Given the description of an element on the screen output the (x, y) to click on. 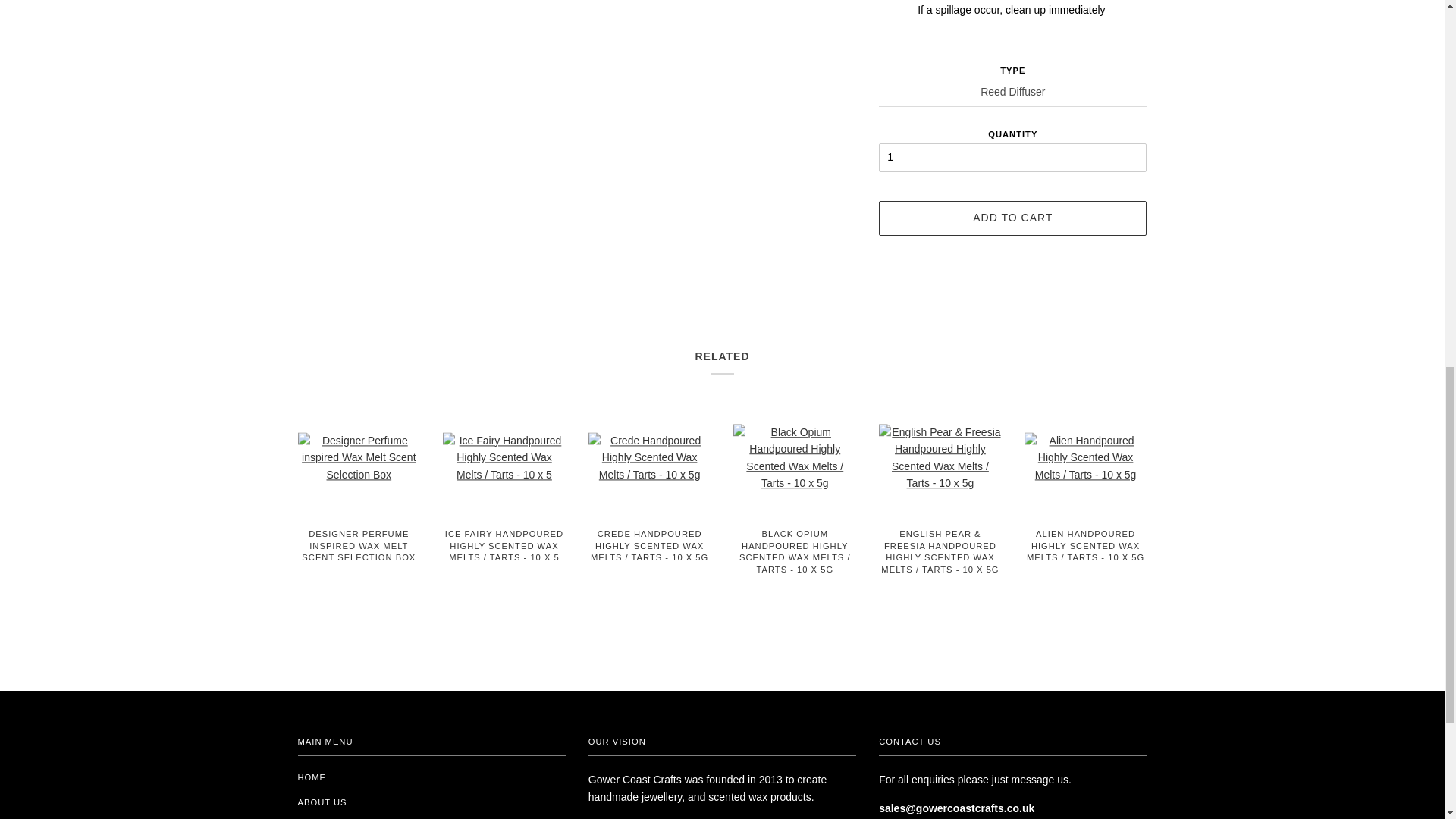
1 (1013, 157)
